Given the description of an element on the screen output the (x, y) to click on. 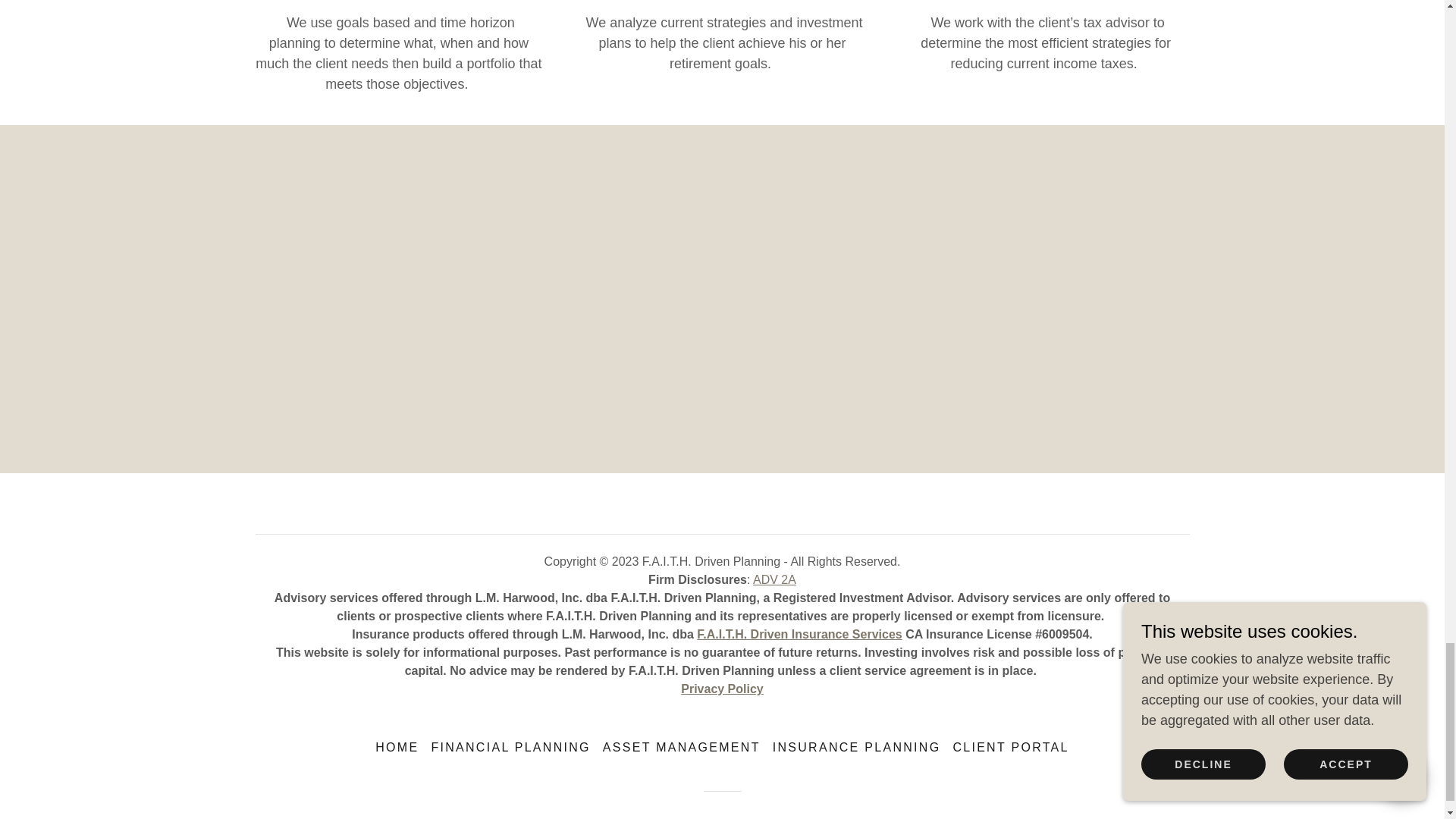
FINANCIAL PLANNING (510, 747)
ADV 2A (774, 579)
HOME (397, 747)
ASSET MANAGEMENT (681, 747)
F.A.I.T.H. Driven Insurance Services (799, 634)
INSURANCE PLANNING (857, 747)
Privacy Policy (721, 688)
